Given the description of an element on the screen output the (x, y) to click on. 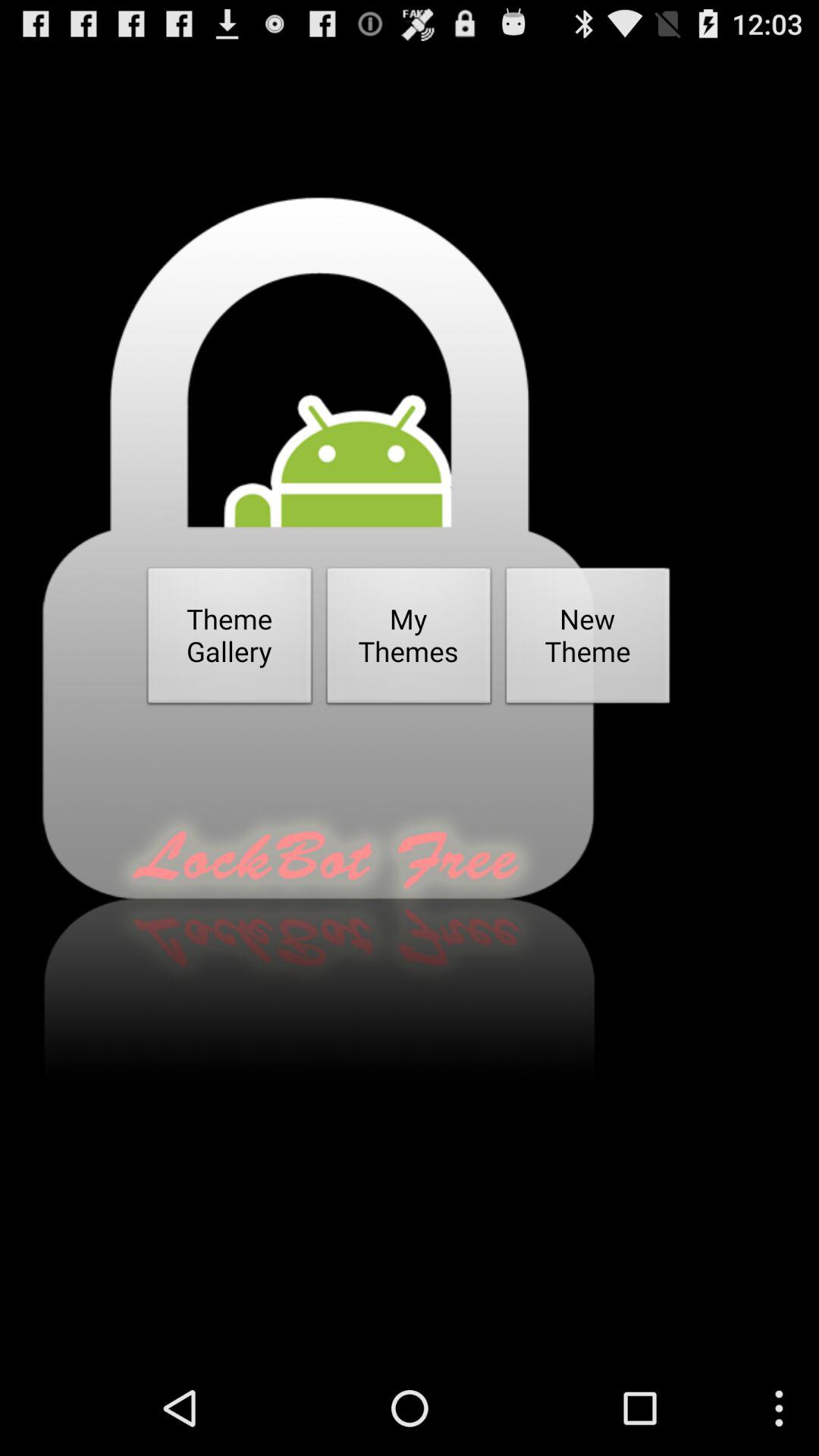
open button next to the new theme button (408, 639)
